Given the description of an element on the screen output the (x, y) to click on. 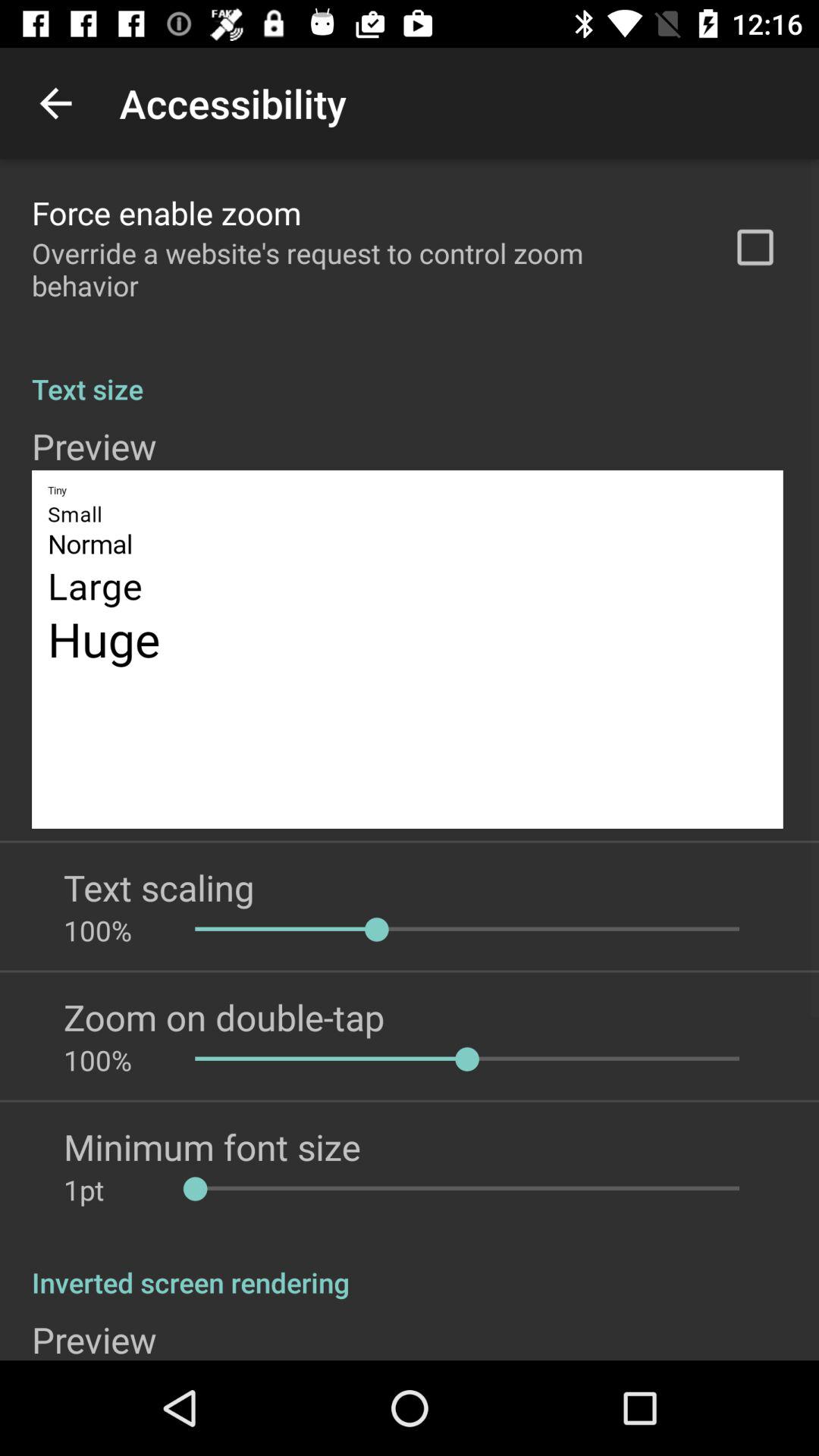
select the app next to override a website icon (755, 247)
